Given the description of an element on the screen output the (x, y) to click on. 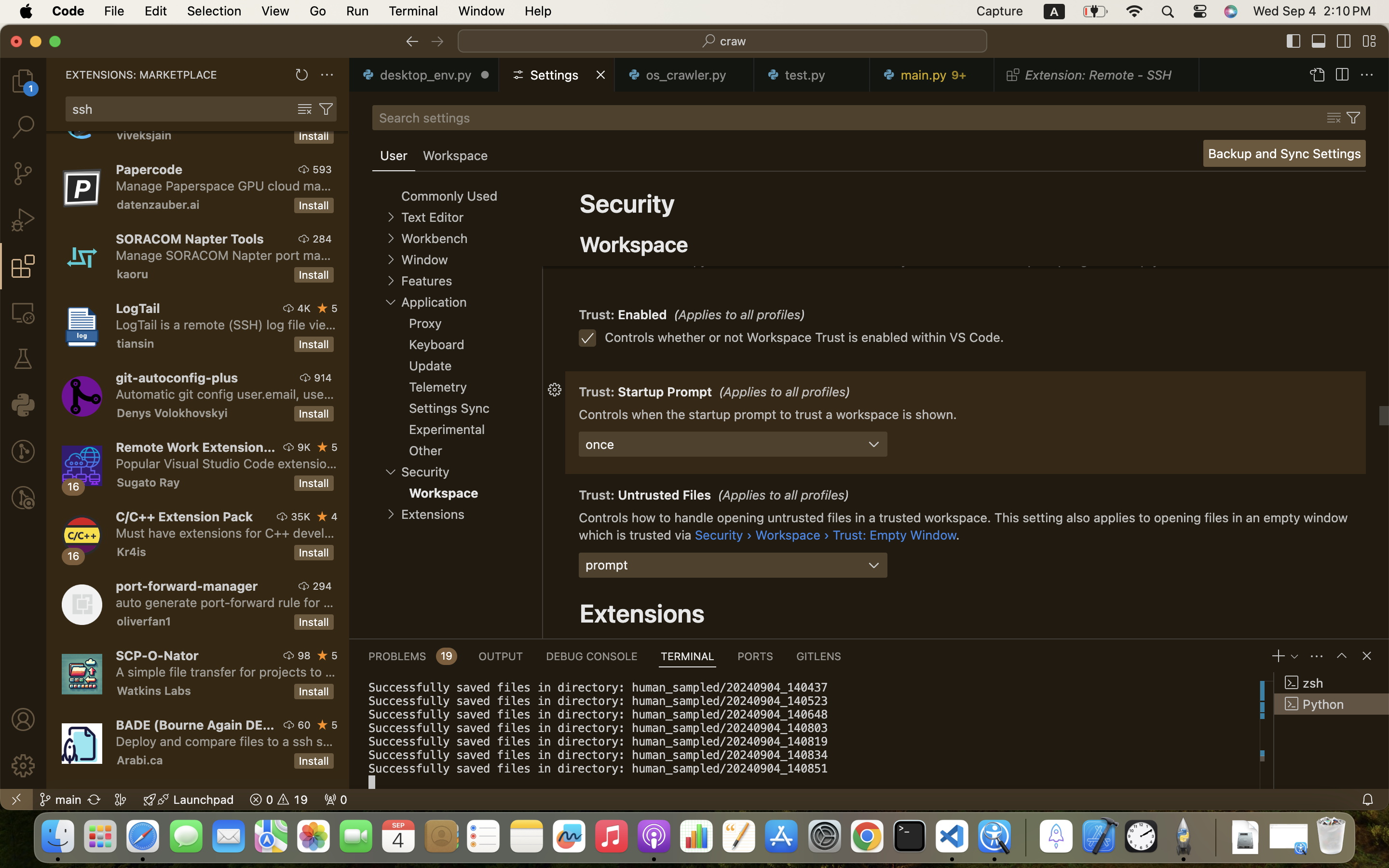
C/C++ Extension Pack Element type: AXStaticText (184, 516)
Proxy Element type: AXStaticText (424, 323)
Papercode Element type: AXStaticText (149, 169)
35K Element type: AXStaticText (300, 516)
SORACOM Napter Tools Element type: AXStaticText (189, 238)
